Given the description of an element on the screen output the (x, y) to click on. 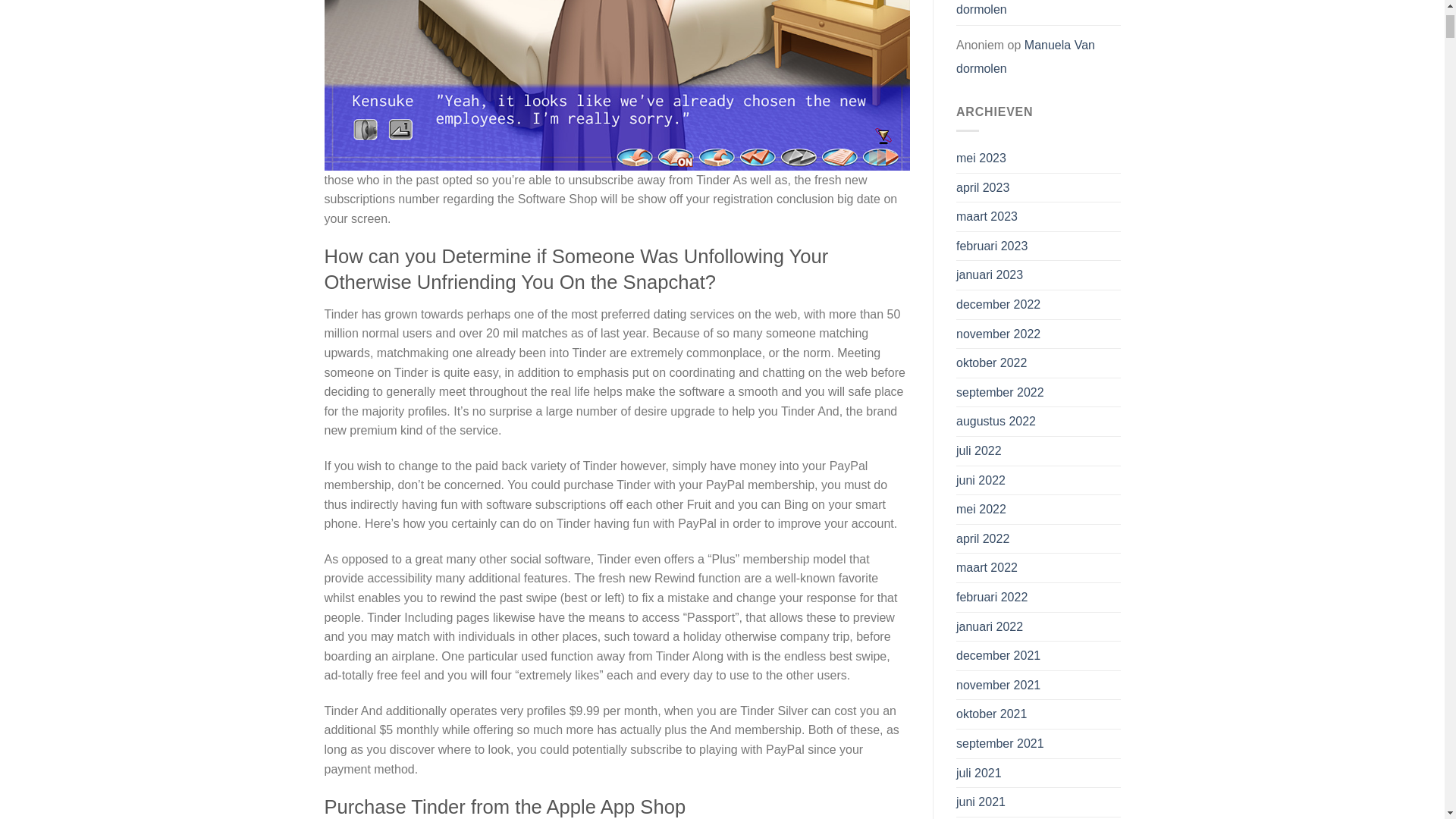
Manuela Van dormolen (1025, 57)
mei 2023 (981, 158)
april 2023 (982, 187)
februari 2023 (991, 246)
januari 2023 (989, 275)
Manuela Van dormolen (1025, 10)
maart 2023 (986, 216)
